Given the description of an element on the screen output the (x, y) to click on. 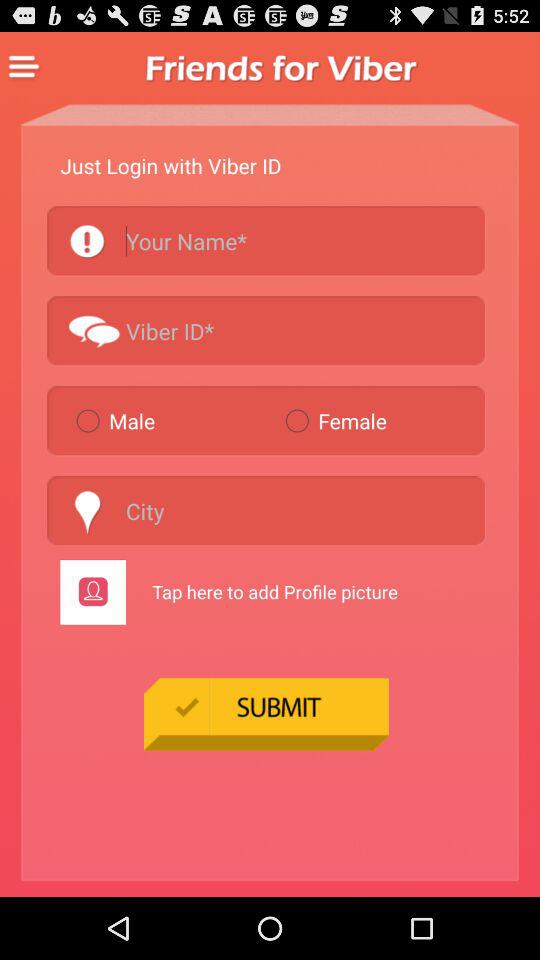
display menu (24, 67)
